Given the description of an element on the screen output the (x, y) to click on. 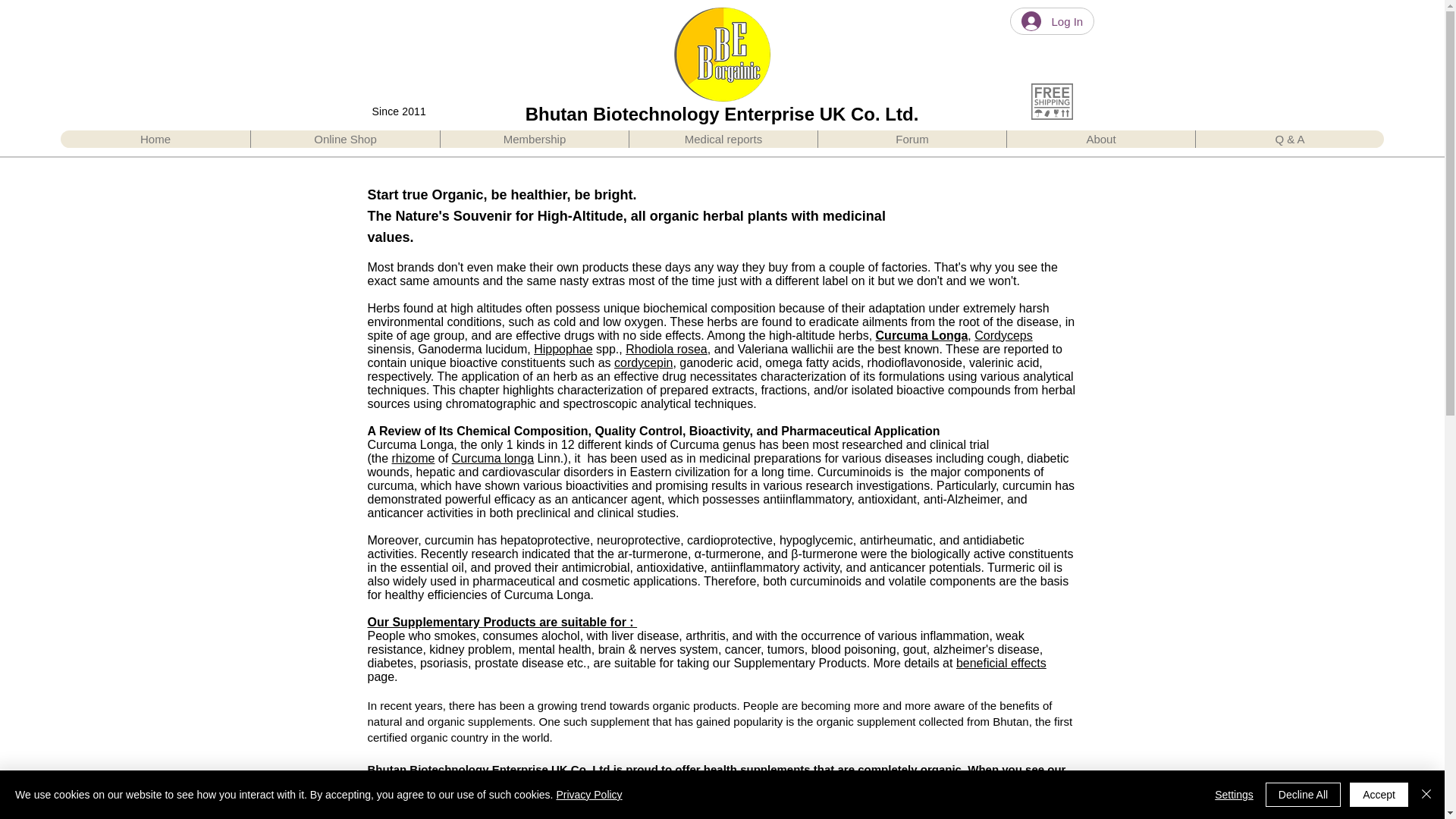
Curcuma Longa (922, 335)
Home (155, 139)
Rhodiola rosea (666, 349)
beneficial effects (1001, 662)
Forum (911, 139)
Online Shop (344, 139)
About (1100, 139)
rhizome (413, 458)
Membership (533, 139)
Decline All (1302, 794)
